Given the description of an element on the screen output the (x, y) to click on. 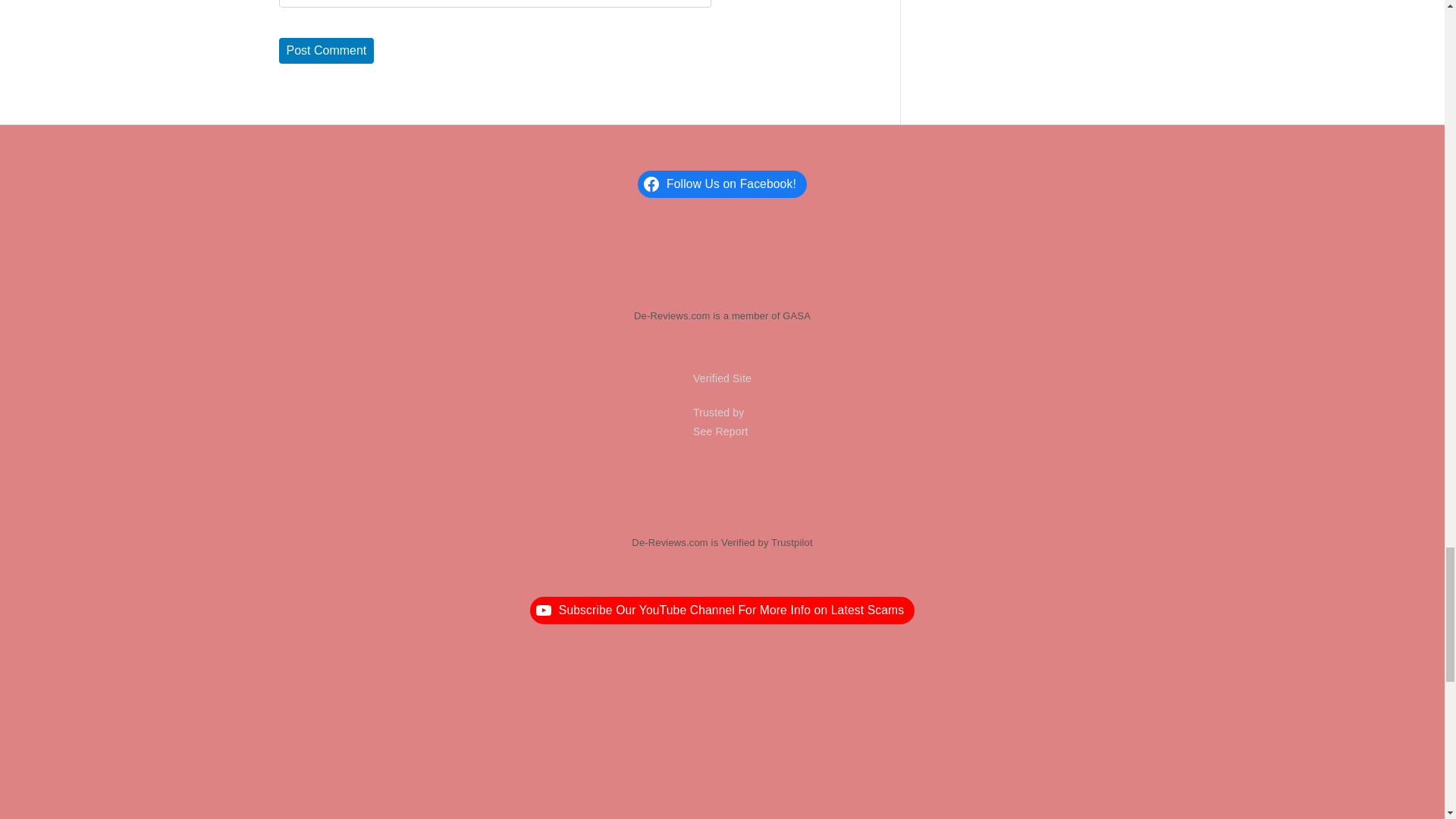
Post Comment (326, 50)
